Given the description of an element on the screen output the (x, y) to click on. 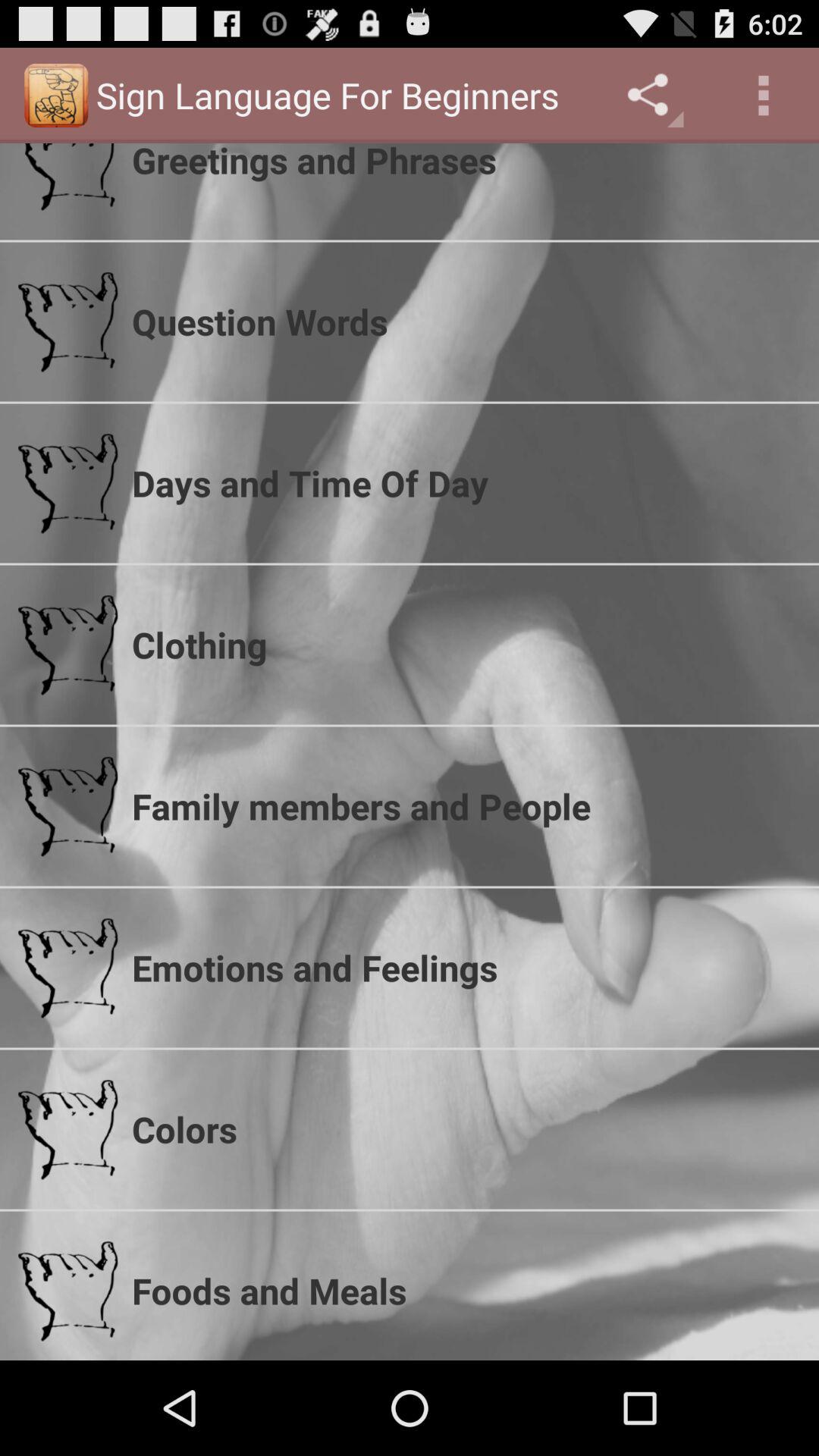
open icon below colors icon (465, 1290)
